Given the description of an element on the screen output the (x, y) to click on. 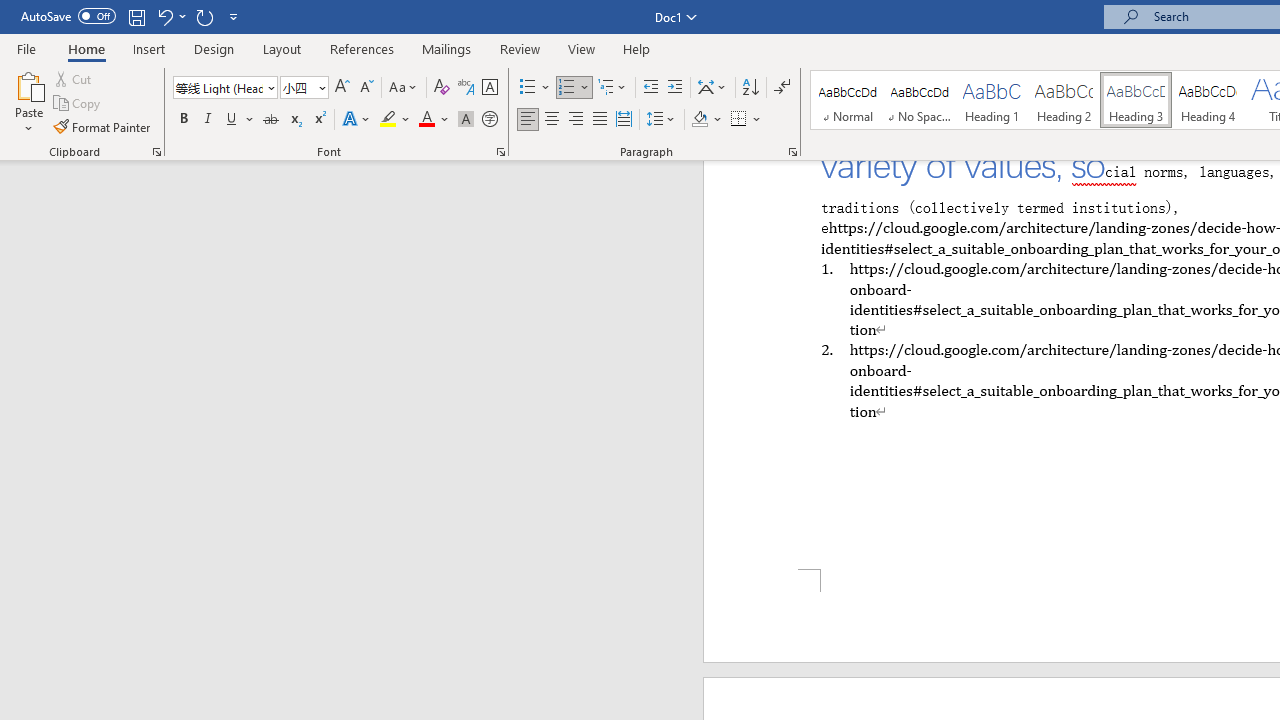
Heading 1 (991, 100)
Text Effects and Typography (357, 119)
Open (320, 87)
